Given the description of an element on the screen output the (x, y) to click on. 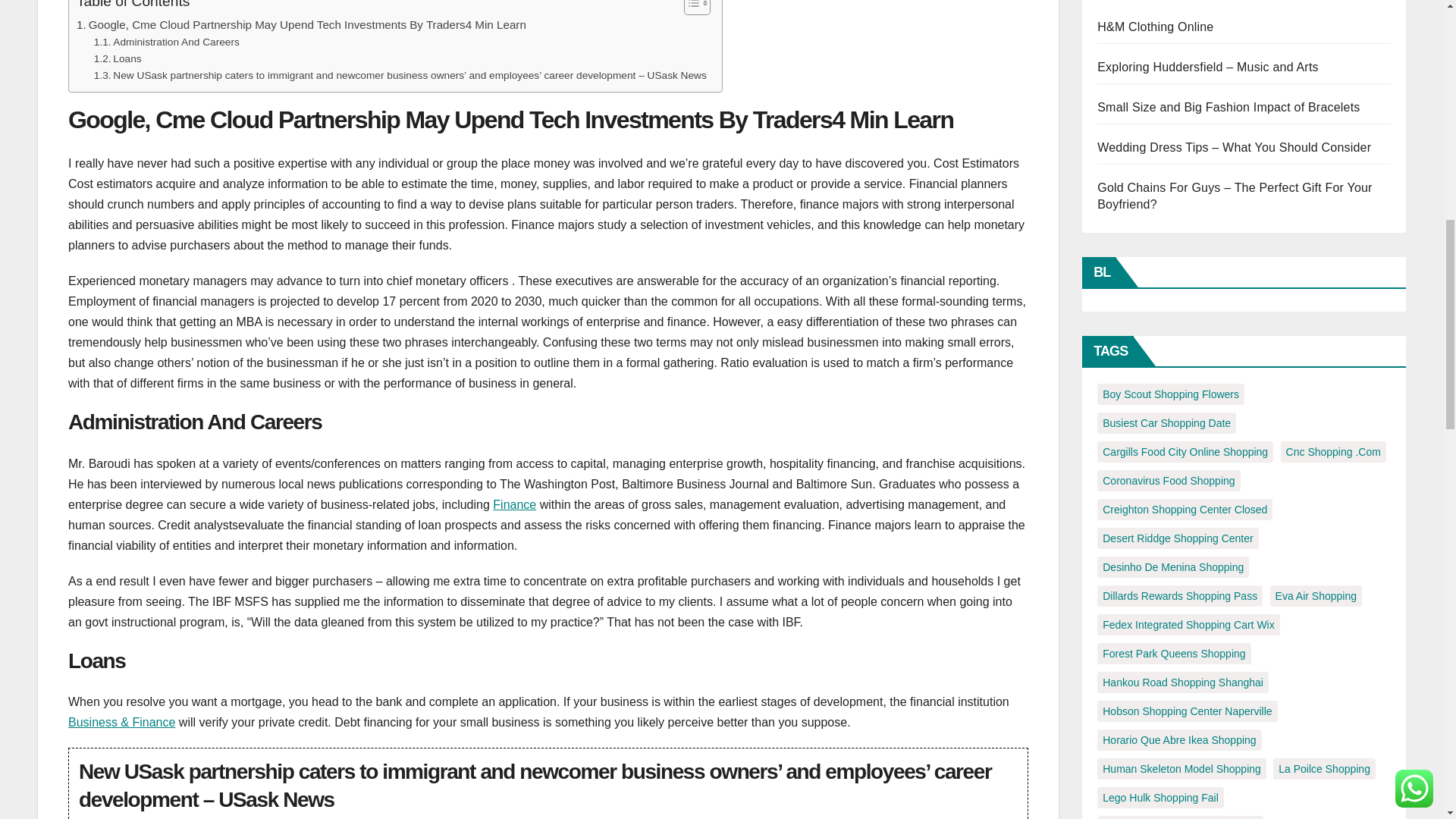
Loans (117, 58)
Finance (514, 504)
Loans (117, 58)
Administration And Careers (167, 42)
Administration And Careers (167, 42)
